Given the description of an element on the screen output the (x, y) to click on. 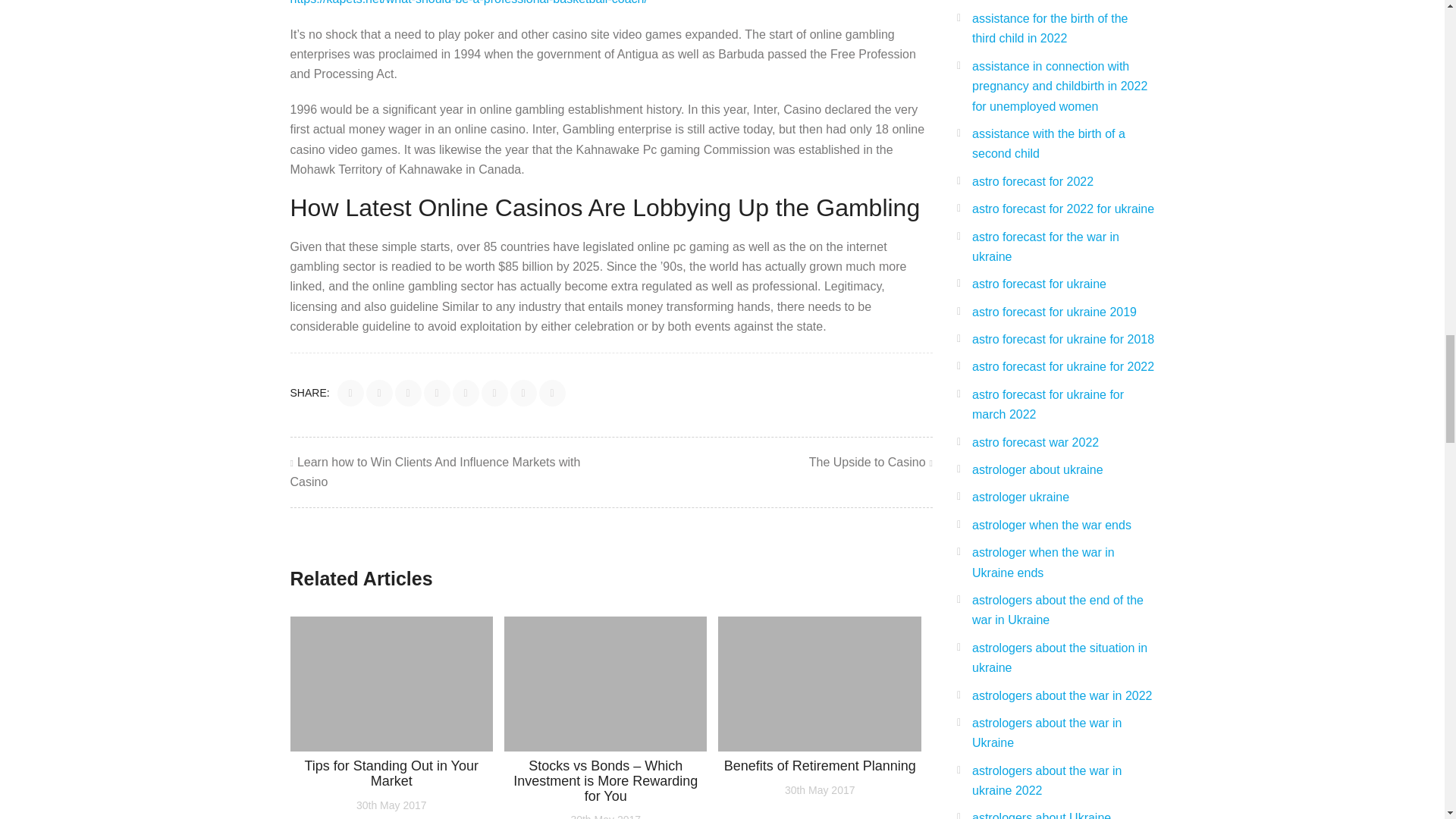
Mail to Friend (552, 392)
Share on Stumbleupon (493, 392)
Share on Tumblr (523, 392)
Share on Facebook (349, 392)
Share on Twitter (378, 392)
Share on Linkedin (437, 392)
Share on Pinterest (465, 392)
